Given the description of an element on the screen output the (x, y) to click on. 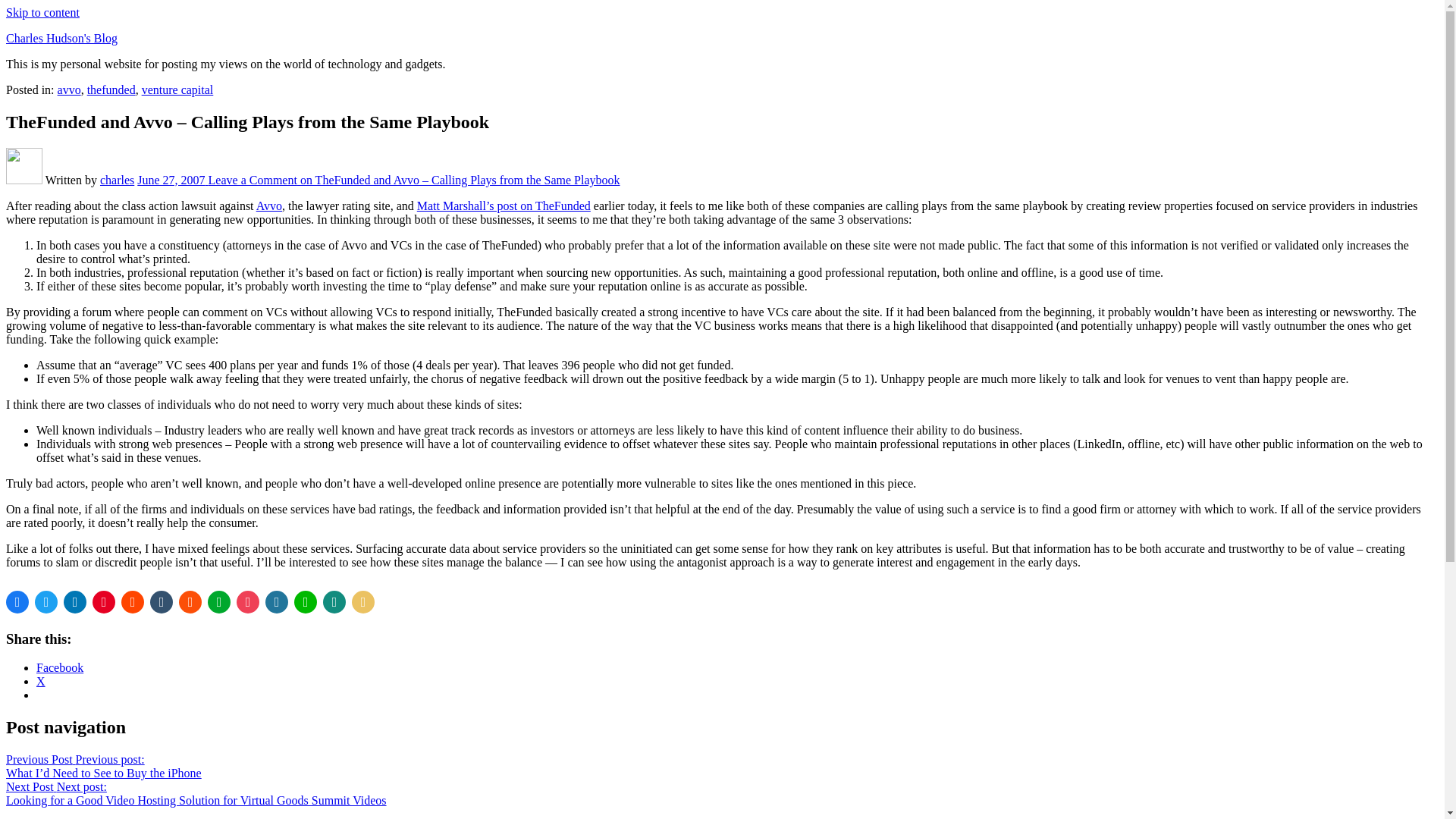
Avvo (269, 205)
avvo (69, 89)
Skip to content (42, 11)
Click to share on Facebook (59, 667)
thefunded (111, 89)
venture capital (177, 89)
Charles Hudson's Blog (61, 38)
charles (116, 179)
June 27, 2007 (172, 179)
Facebook (59, 667)
